Given the description of an element on the screen output the (x, y) to click on. 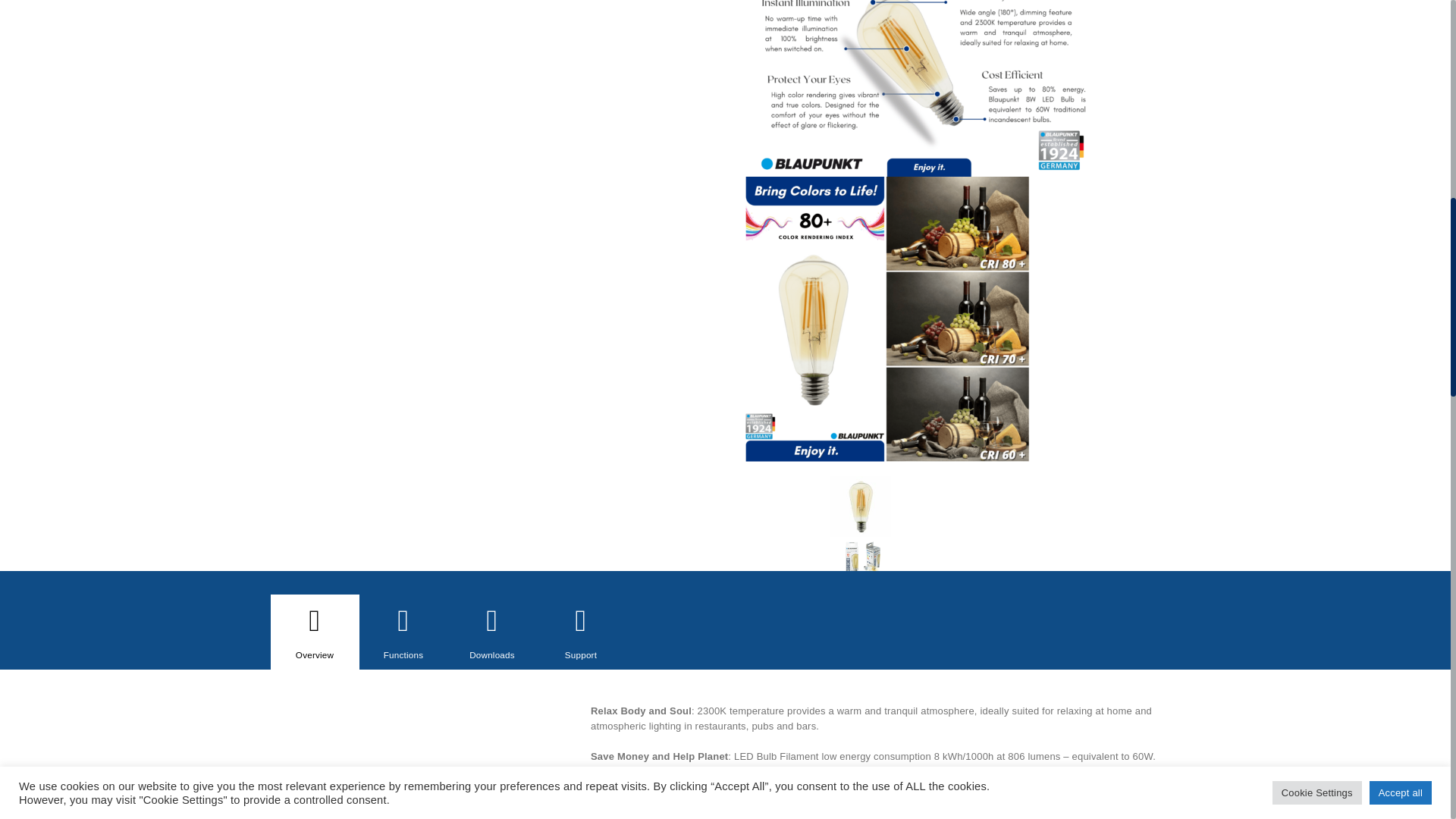
BLAUPUNKT FA E27 8 WW 7 (412, 761)
